Given the description of an element on the screen output the (x, y) to click on. 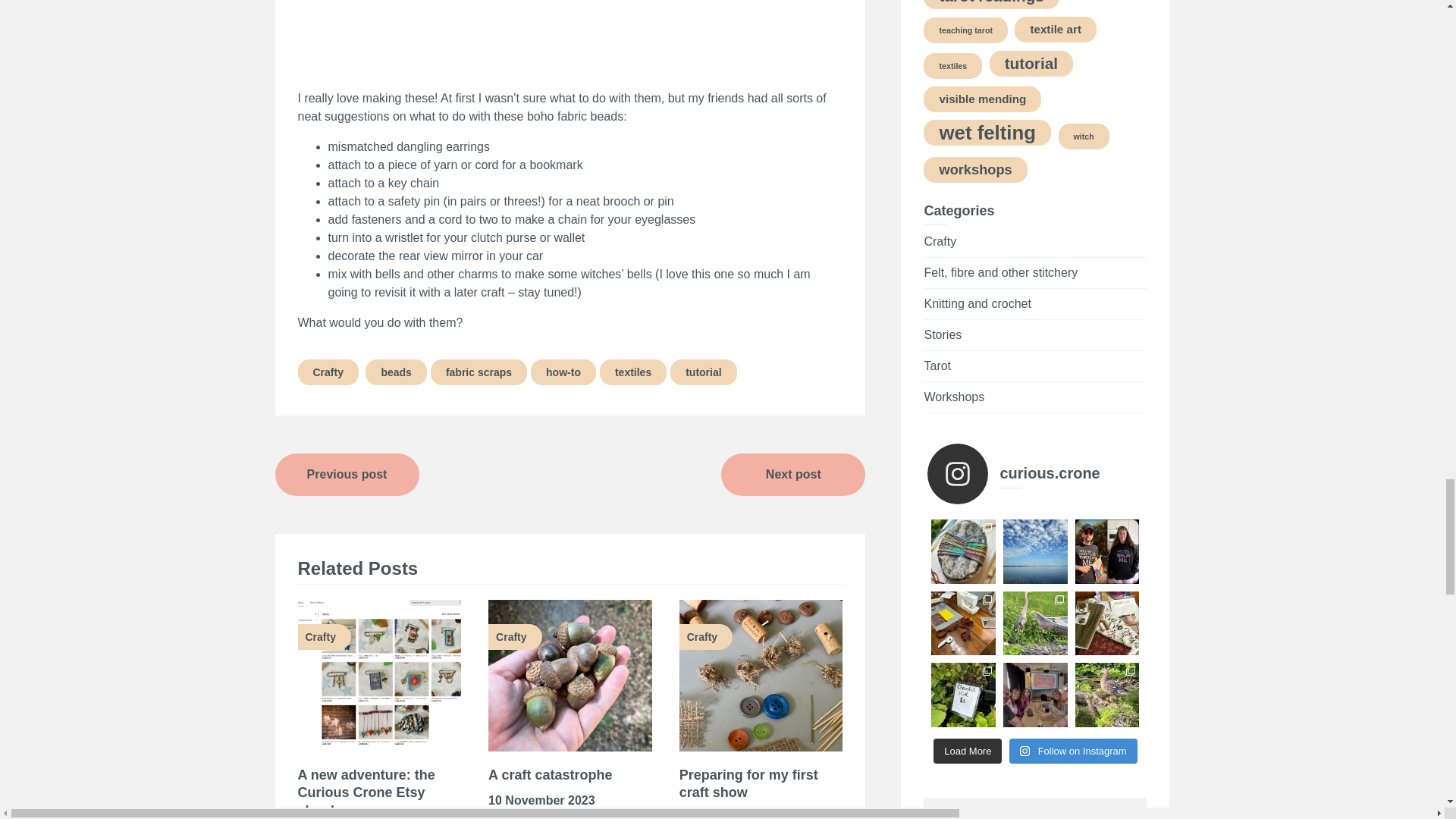
A craft catastrophe (549, 774)
A new adventure: the Curious Crone Etsy shop! (365, 792)
YouTube video player (509, 36)
Crafty (569, 675)
Next post (792, 474)
beads (395, 371)
Crafty (379, 675)
textiles (632, 371)
tutorial (702, 371)
10 November 2023 (541, 799)
Crafty (761, 675)
Preparing for my first craft show (748, 783)
Previous post (347, 474)
fabric scraps (478, 371)
how-to (563, 371)
